Given the description of an element on the screen output the (x, y) to click on. 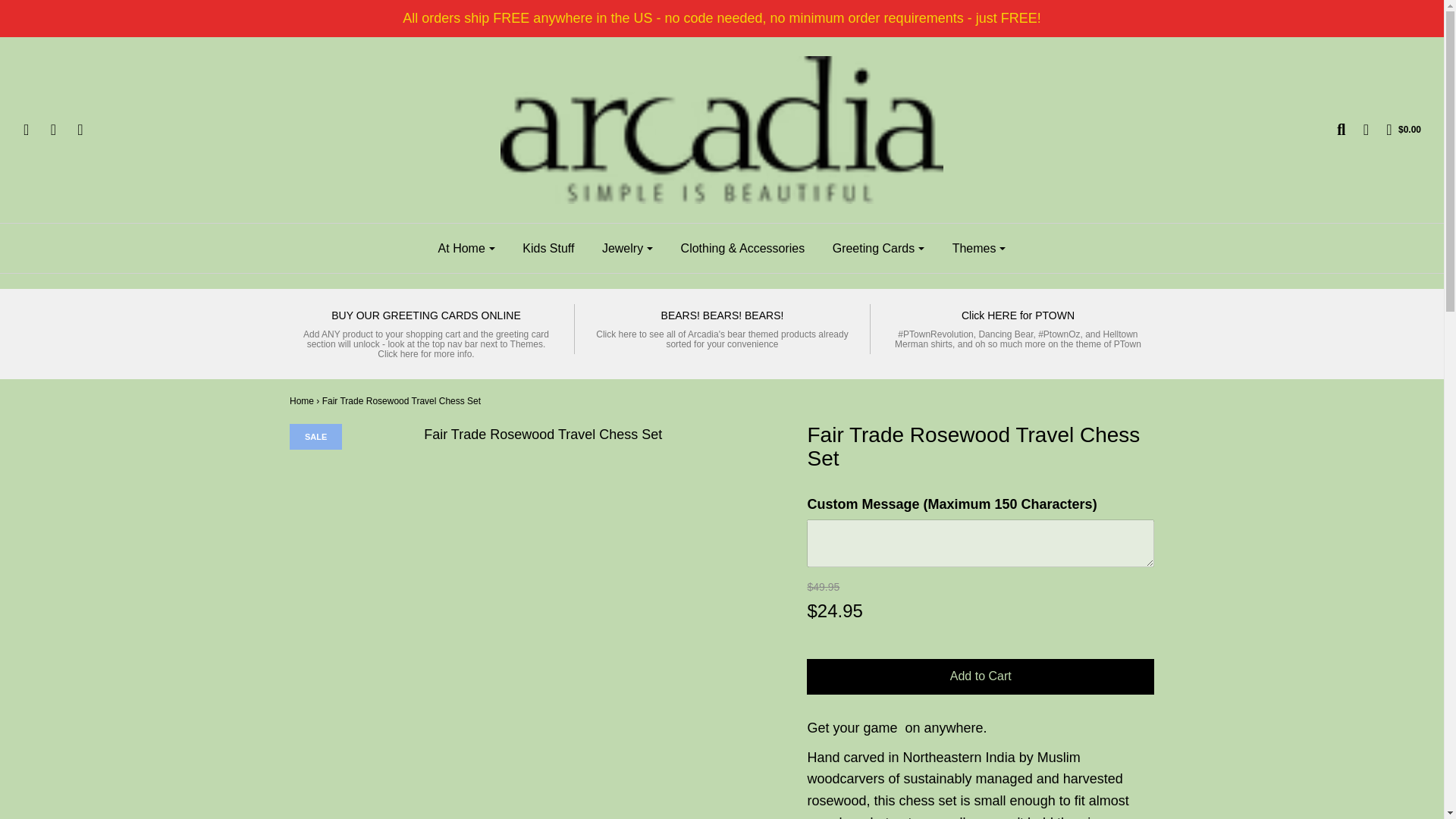
Kids Stuff (548, 248)
Greeting Cards (878, 248)
Back to the frontpage (301, 400)
At Home (466, 248)
Search (1333, 129)
Jewelry (627, 248)
Cart (1396, 129)
Log in (1358, 129)
